Given the description of an element on the screen output the (x, y) to click on. 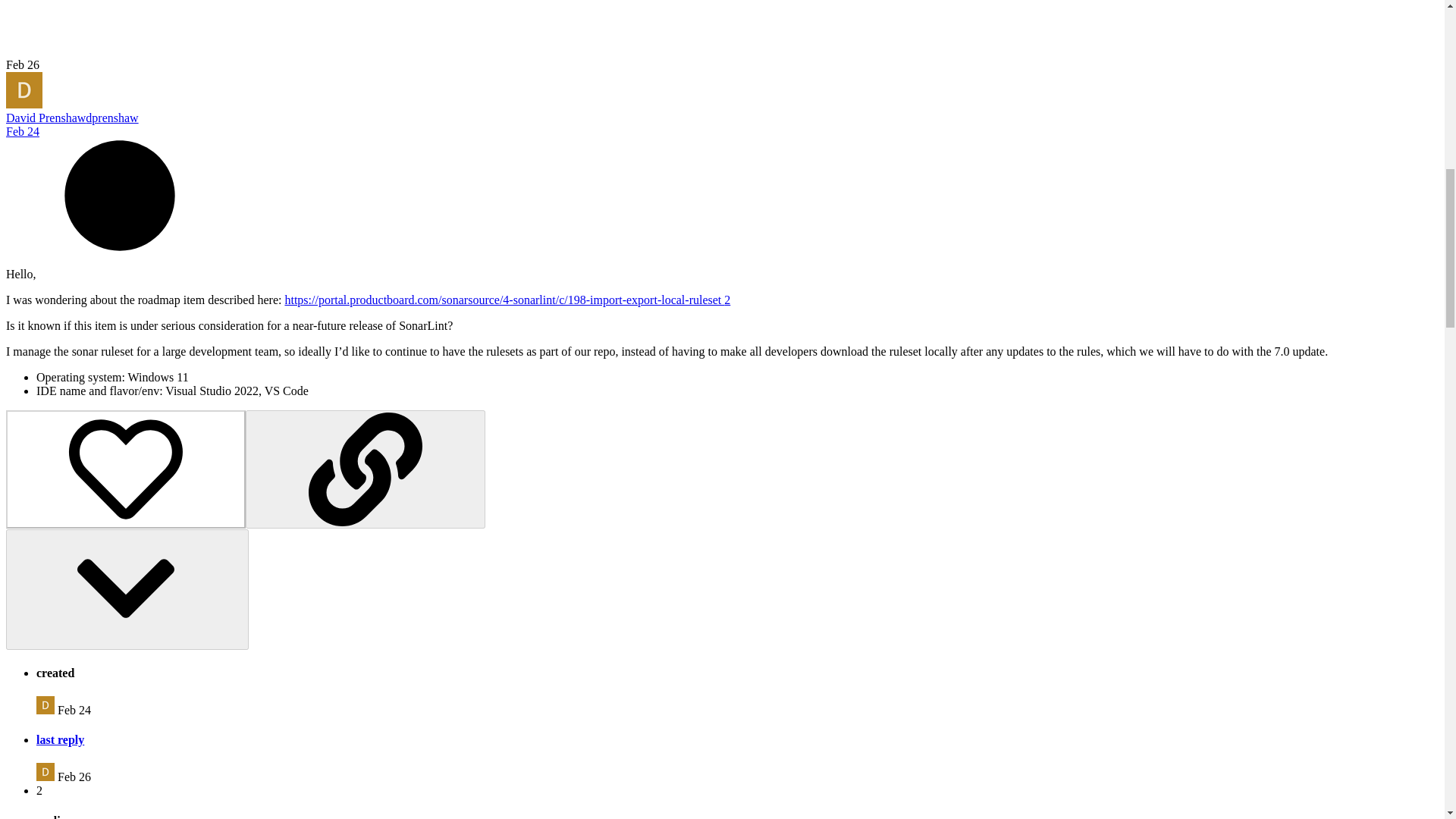
Feb 26 (22, 64)
Post date (22, 131)
expand topic details (126, 589)
Feb 24, 2024 1:03 am (74, 709)
Jump to the last post (22, 64)
copy a link to this post to clipboard (365, 469)
David Prenshaw (45, 705)
Feb 24 (22, 131)
dprenshaw (111, 117)
David Prenshaw (45, 117)
Please sign up or log in to like this post (125, 469)
